Given the description of an element on the screen output the (x, y) to click on. 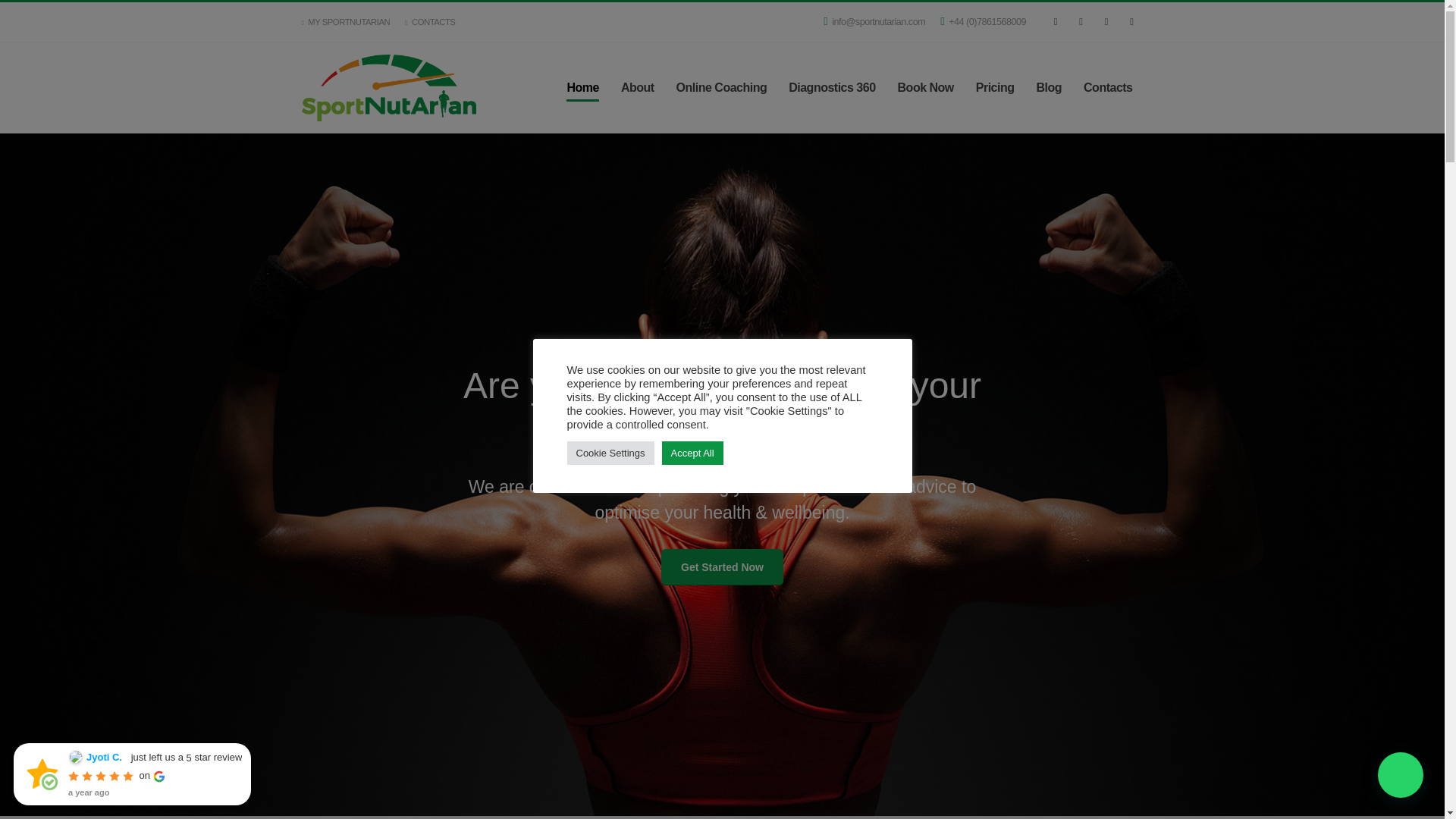
Online Coaching (721, 87)
Instagram (1106, 21)
Facebook (1055, 21)
MY SPORTNUTARIAN (349, 22)
Twitter (1080, 21)
SportNutArian - Sports Nutrition (388, 87)
Contacts (1107, 87)
Get Started Now (722, 567)
LinkedIn (1131, 21)
Diagnostics 360 (831, 87)
CONTACTS (430, 22)
Book Now (924, 87)
